Given the description of an element on the screen output the (x, y) to click on. 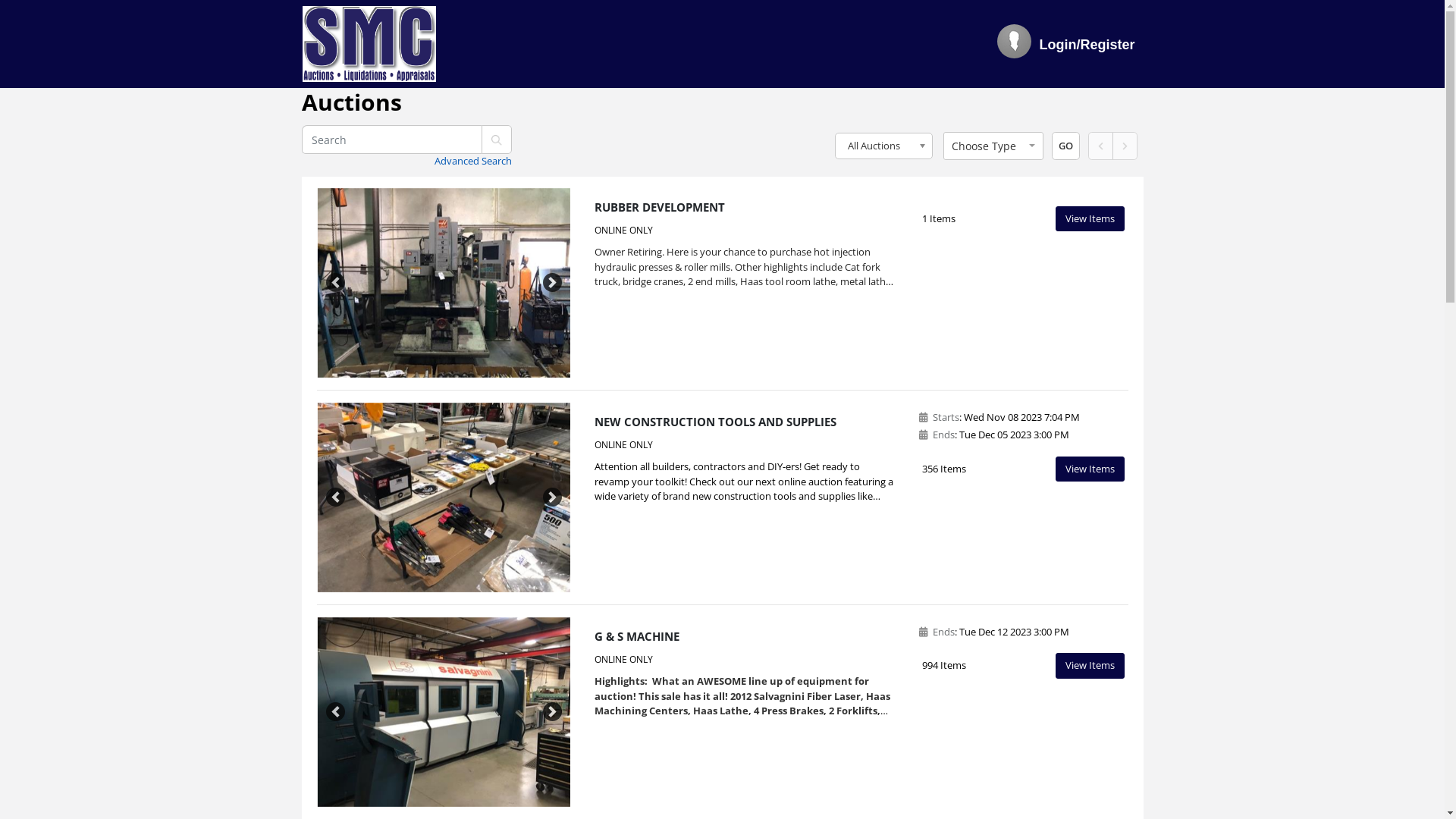
All Auctions Element type: text (883, 145)
Choose Type Element type: text (993, 145)
Previous Element type: text (335, 282)
View Items Element type: text (1089, 219)
Previous Element type: text (335, 711)
Login/Register Element type: text (1086, 46)
View Items Element type: text (1089, 469)
Next Element type: text (552, 711)
Next Element type: text (552, 496)
Right Element type: hover (1123, 145)
GO Element type: text (1065, 145)
G & S MACHINE Element type: text (636, 635)
NEW CONSTRUCTION TOOLS AND SUPPLIES Element type: text (715, 421)
Next Element type: text (552, 282)
View Items Element type: text (1089, 665)
RUBBER DEVELOPMENT Element type: text (659, 205)
Advanced Search Element type: text (472, 160)
Left  Element type: hover (1099, 145)
Previous Element type: text (335, 496)
